Given the description of an element on the screen output the (x, y) to click on. 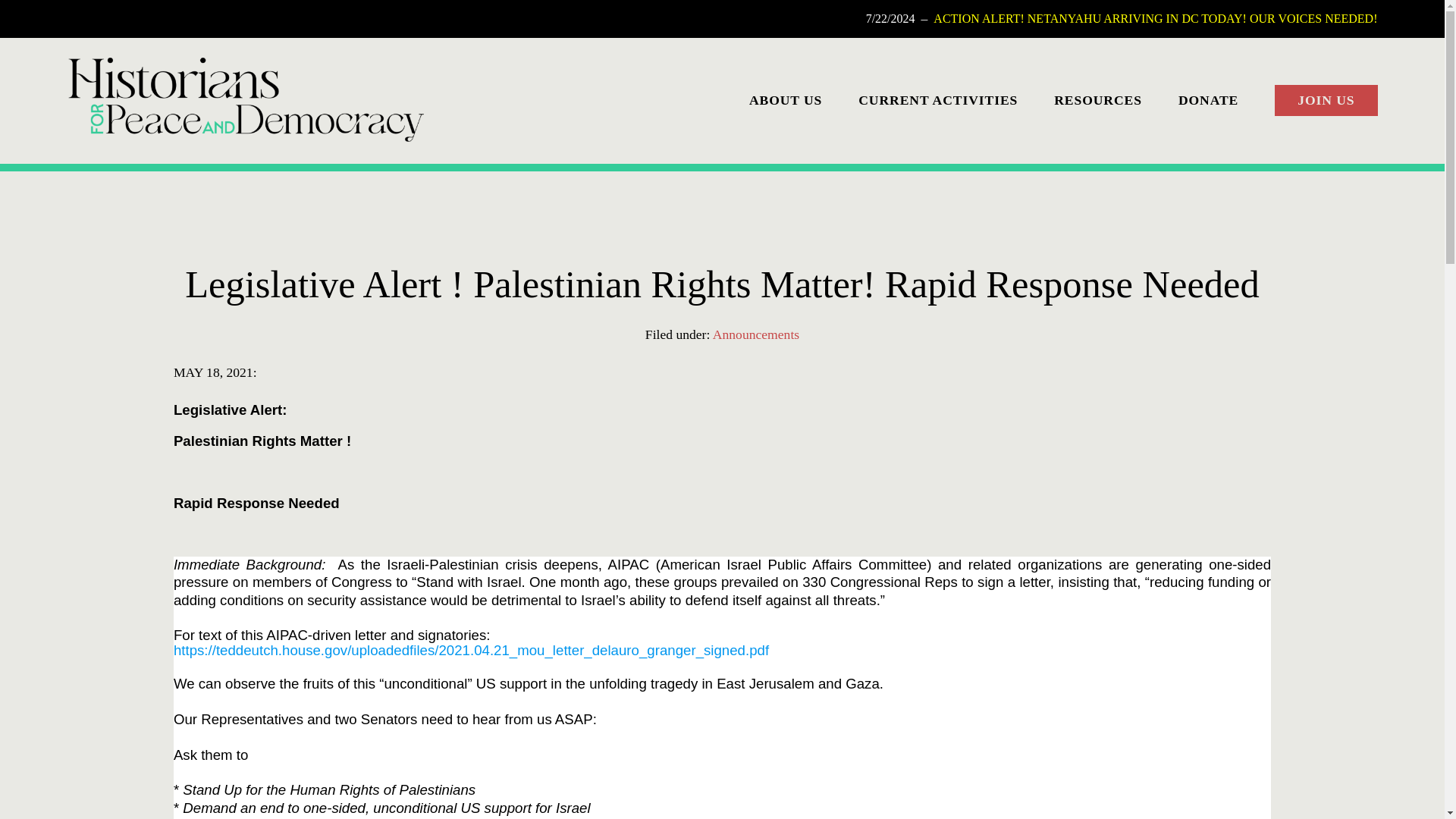
CURRENT ACTIVITIES (938, 99)
RESOURCES (1097, 99)
DONATE (1208, 99)
ABOUT US (785, 99)
Announcements (756, 334)
JOIN US (1326, 101)
